Given the description of an element on the screen output the (x, y) to click on. 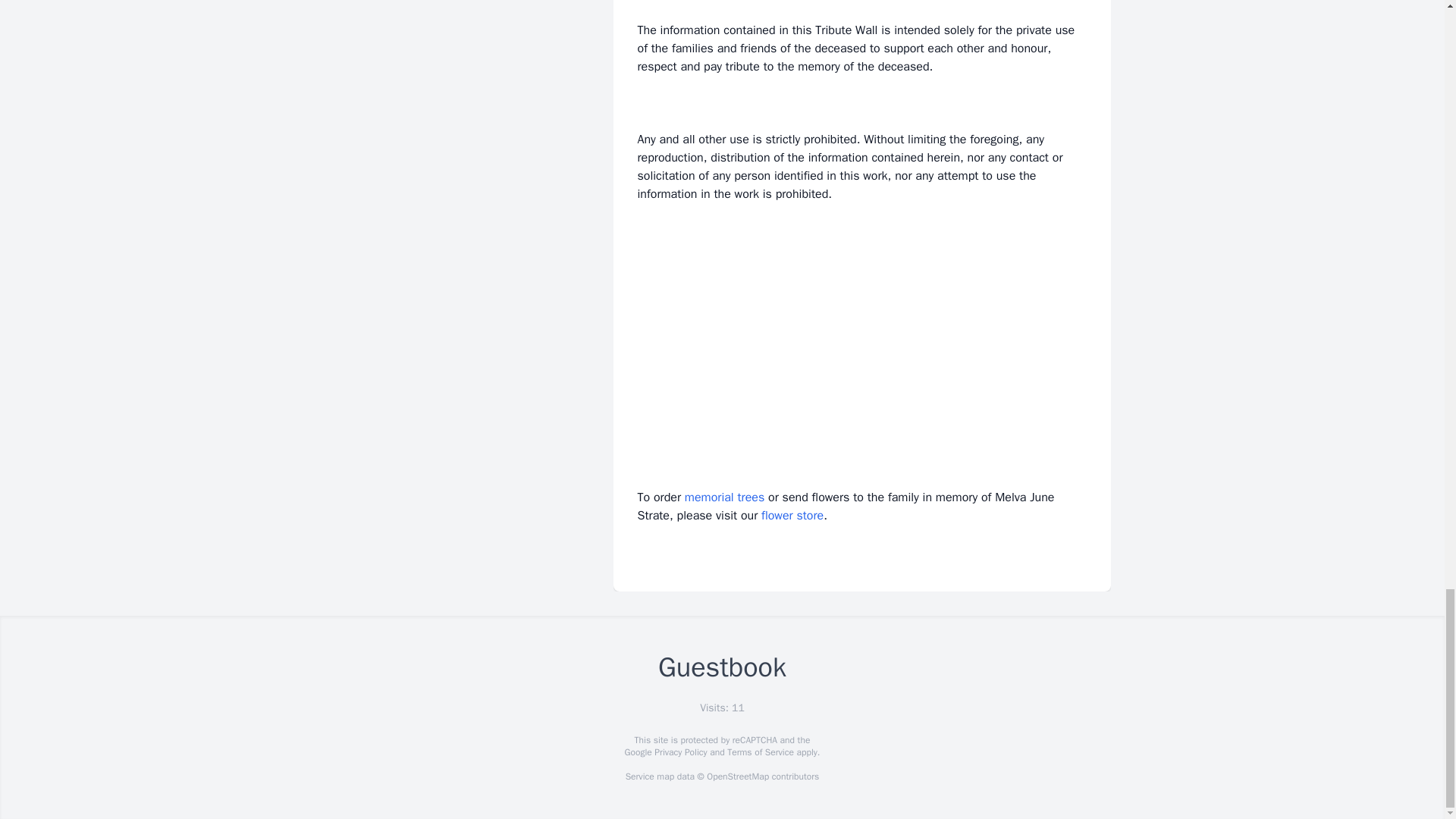
OpenStreetMap (737, 776)
Terms of Service (759, 752)
flower store (792, 515)
Privacy Policy (679, 752)
memorial trees (724, 497)
